Given the description of an element on the screen output the (x, y) to click on. 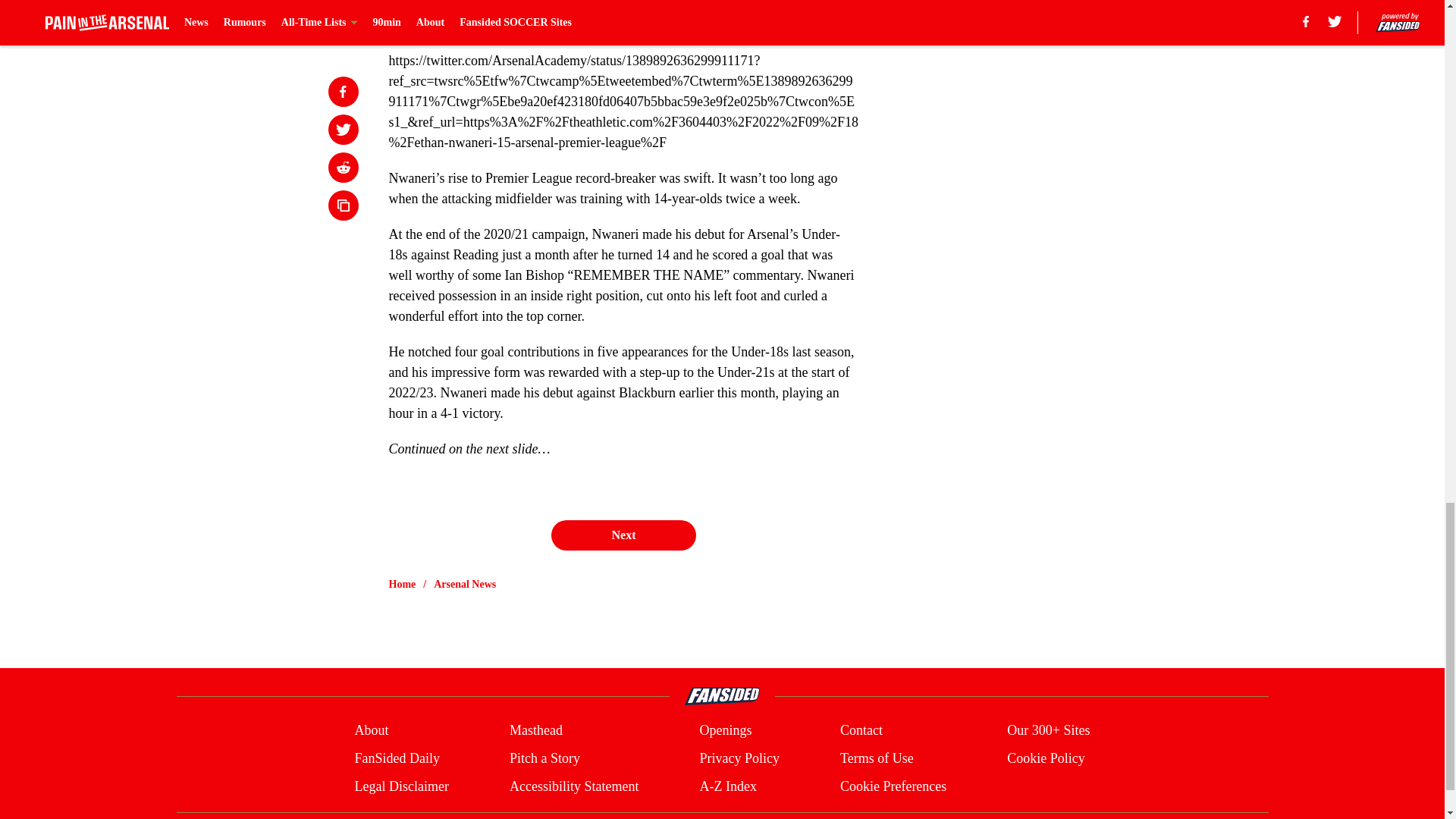
Masthead (535, 730)
Home (401, 584)
Cookie Preferences (893, 786)
Accessibility Statement (574, 786)
Contact (861, 730)
Cookie Policy (1045, 758)
Legal Disclaimer (400, 786)
FanSided Daily (396, 758)
About (370, 730)
Terms of Use (877, 758)
Next (622, 535)
Privacy Policy (738, 758)
A-Z Index (726, 786)
Arsenal News (464, 584)
Openings (724, 730)
